Given the description of an element on the screen output the (x, y) to click on. 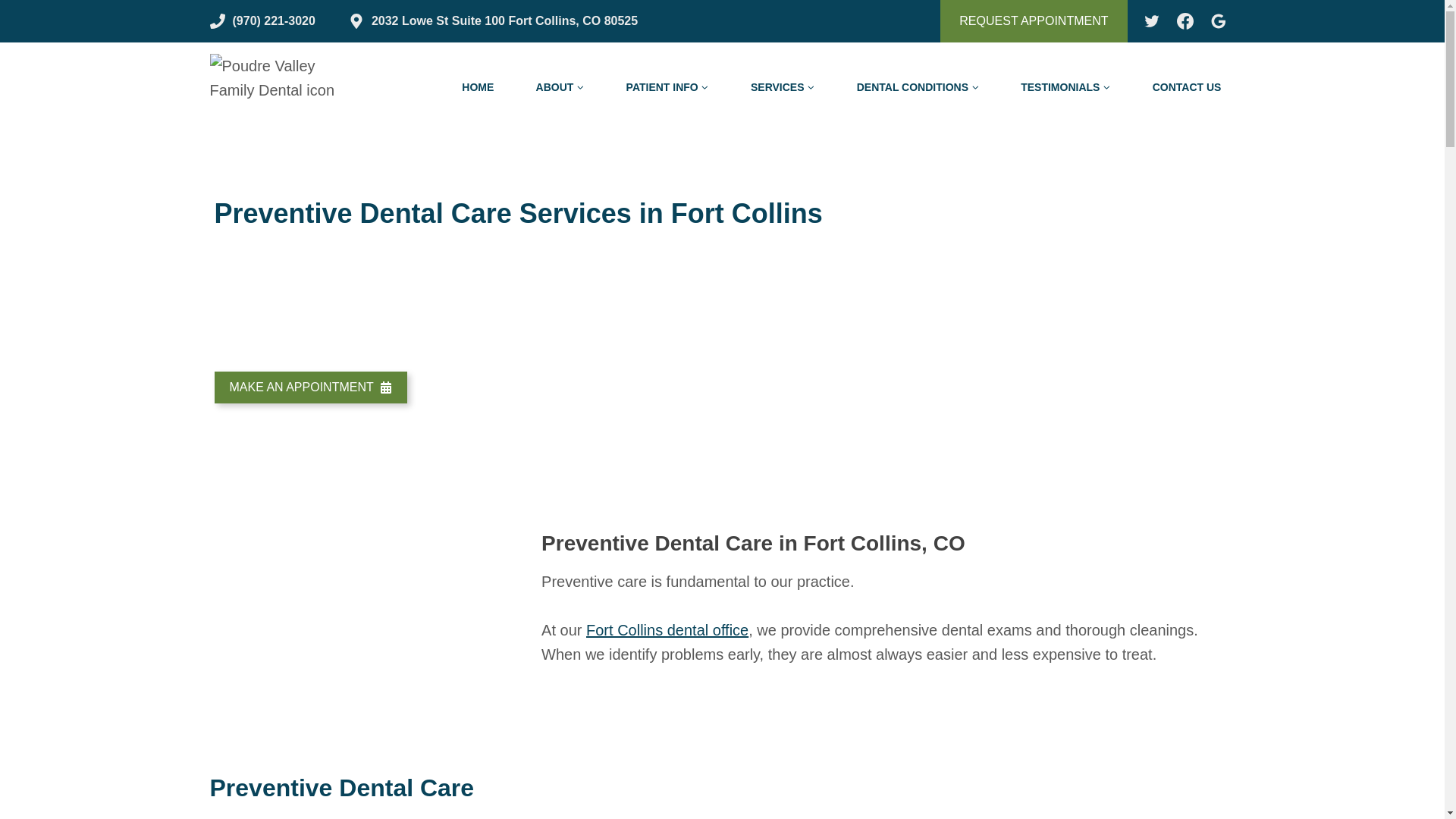
DENTAL CONDITIONS (917, 86)
2032 Lowe St Suite 100 Fort Collins, CO 80525 (493, 23)
TESTIMONIALS (1065, 86)
ABOUT (560, 86)
SERVICES (782, 86)
HOME (477, 86)
CONTACT US (1186, 86)
REQUEST APPOINTMENT (1033, 21)
PATIENT INFO (667, 86)
